Given the description of an element on the screen output the (x, y) to click on. 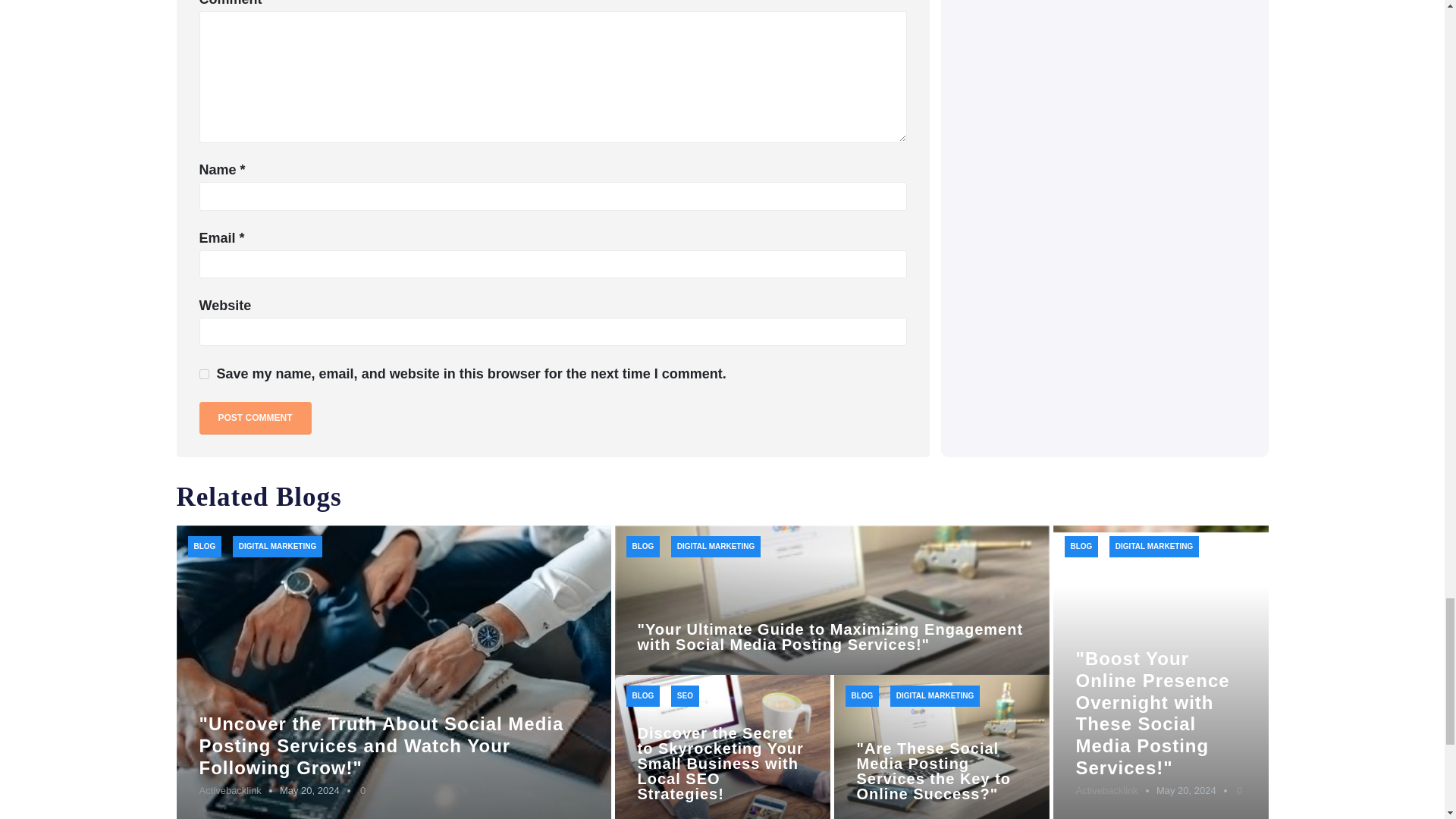
yes (203, 374)
Post Comment (254, 418)
Post Comment (254, 418)
